Given the description of an element on the screen output the (x, y) to click on. 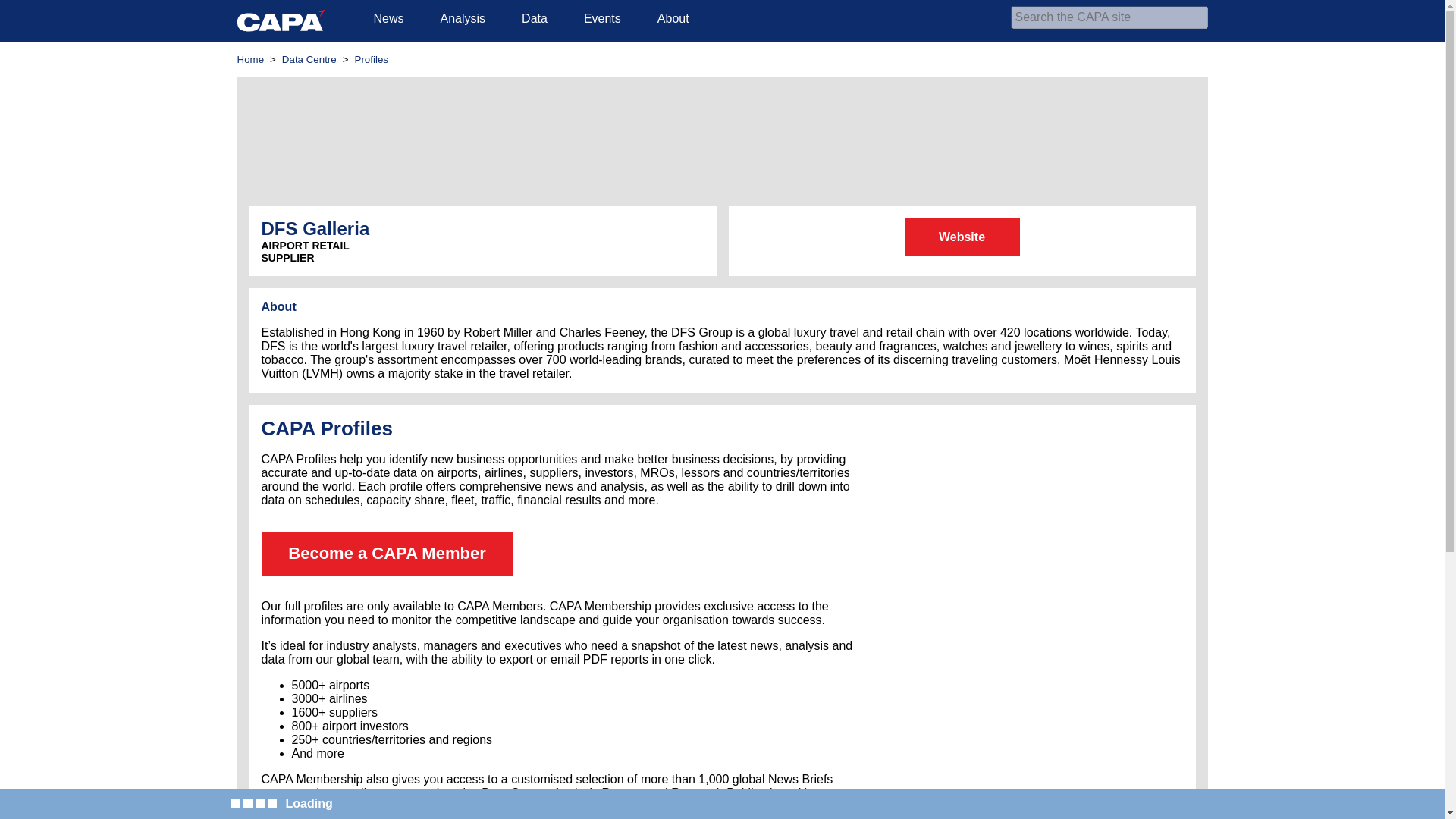
Analysis (462, 18)
Visit DFS Galleria website (961, 237)
Website (961, 237)
About (673, 18)
Events (602, 18)
CAPA - Centre for Aviation (279, 20)
Data Centre (309, 59)
Become a CAPA Member (386, 553)
Home (249, 59)
Profiles (371, 59)
Data (534, 18)
News (388, 18)
